Given the description of an element on the screen output the (x, y) to click on. 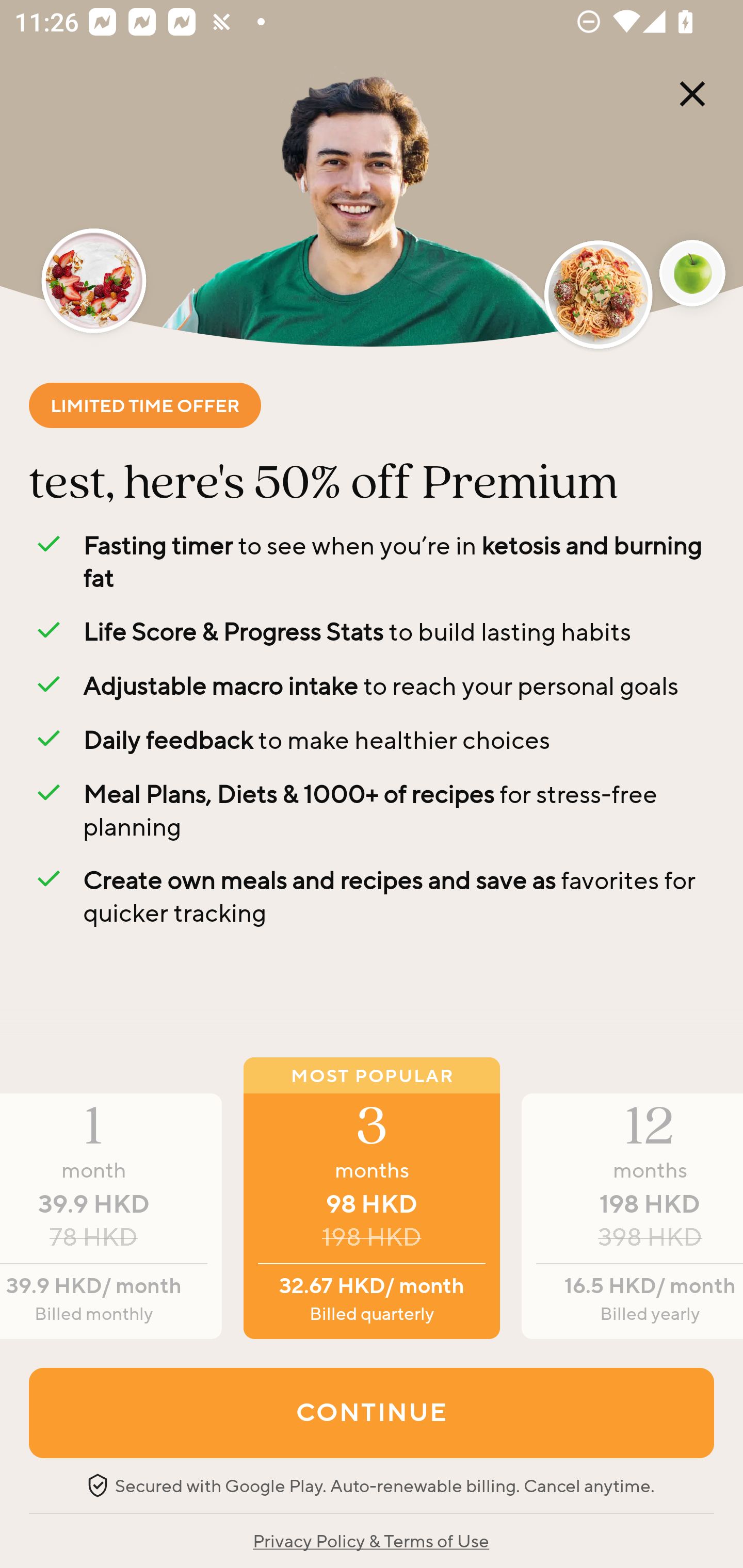
CONTINUE (371, 1412)
Privacy Policy & Terms of Use (370, 1540)
